Given the description of an element on the screen output the (x, y) to click on. 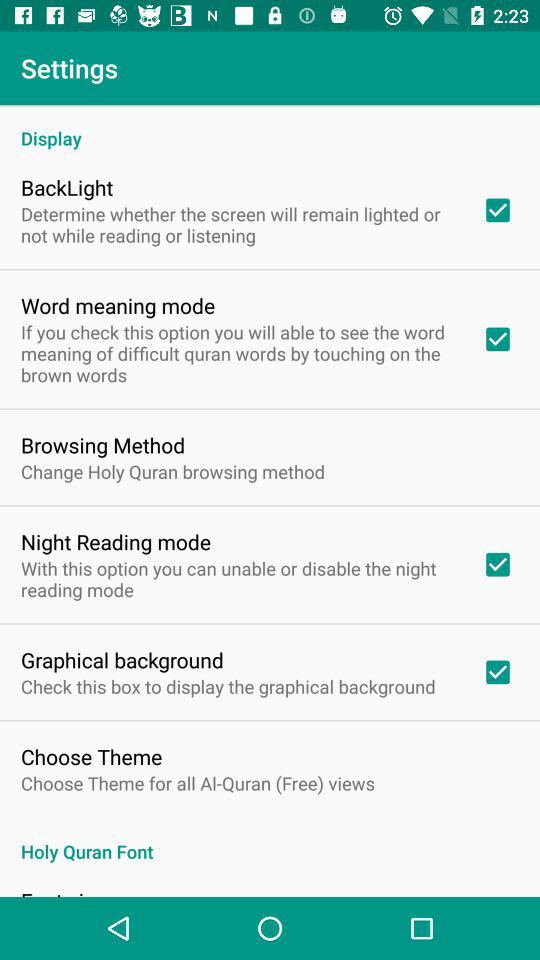
open icon below backlight item (238, 224)
